Given the description of an element on the screen output the (x, y) to click on. 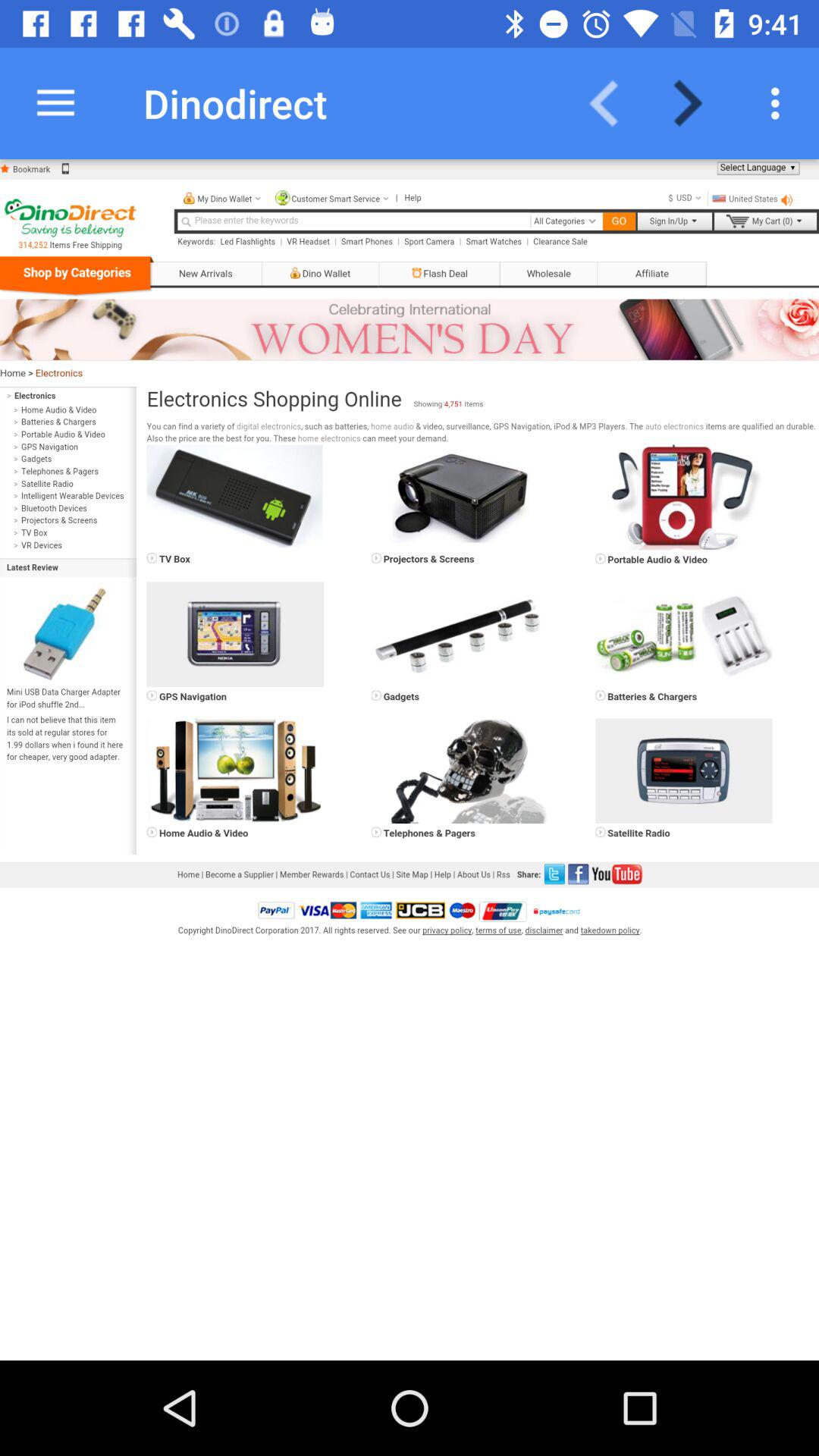
backword (613, 103)
